Given the description of an element on the screen output the (x, y) to click on. 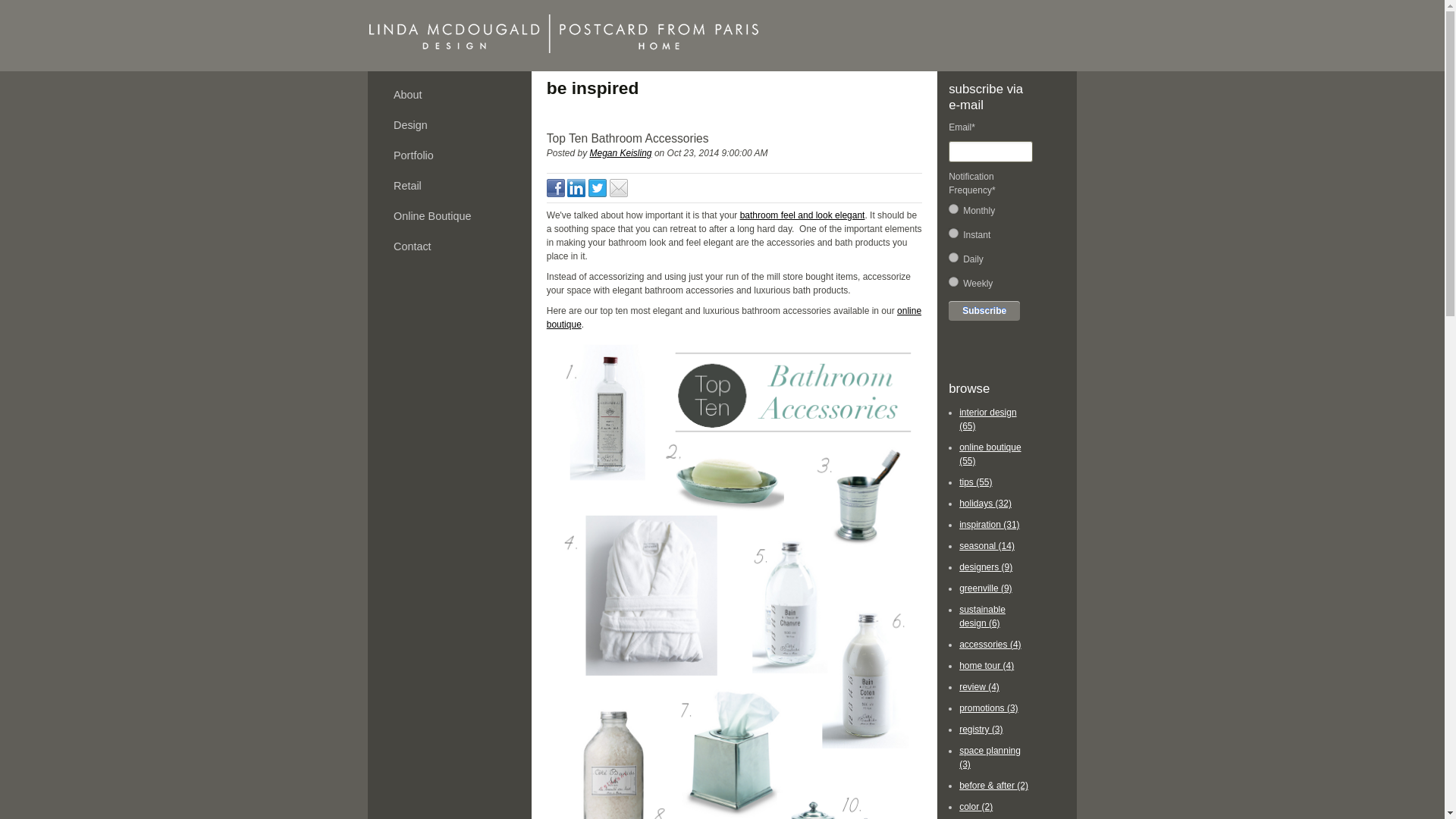
daily (953, 257)
Top Ten Bathroom Accessories (734, 138)
Design (449, 124)
weekly (953, 281)
About (449, 94)
Subscribe (984, 311)
Megan Keisling (619, 153)
online boutique (734, 317)
monthly (953, 208)
bathroom feel and look elegant (801, 214)
Contact (449, 245)
Retail (449, 185)
Portfolio (449, 155)
Online Boutique (449, 215)
instant (953, 233)
